Given the description of an element on the screen output the (x, y) to click on. 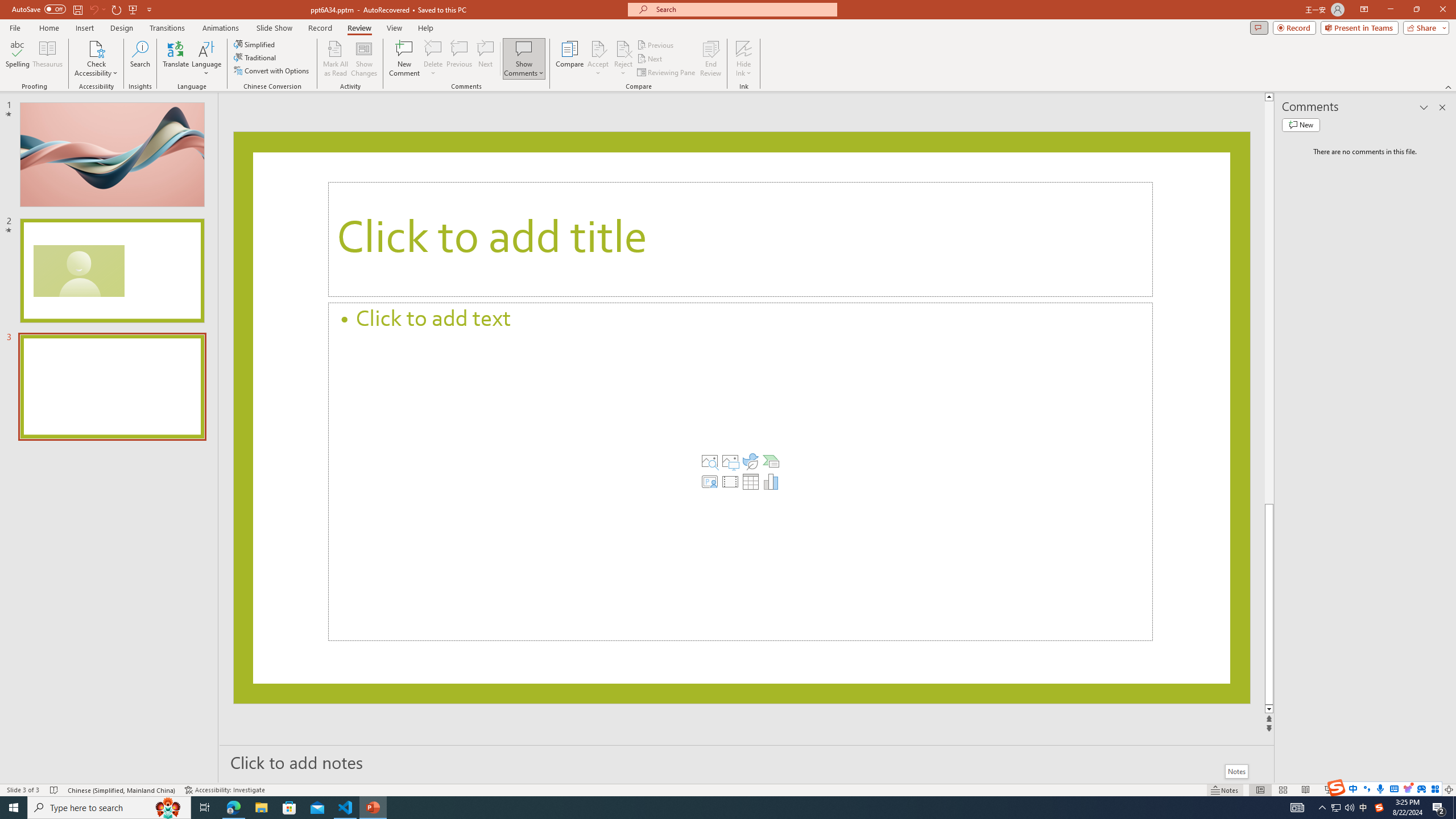
Show Changes (363, 58)
Traditional (255, 56)
